Given the description of an element on the screen output the (x, y) to click on. 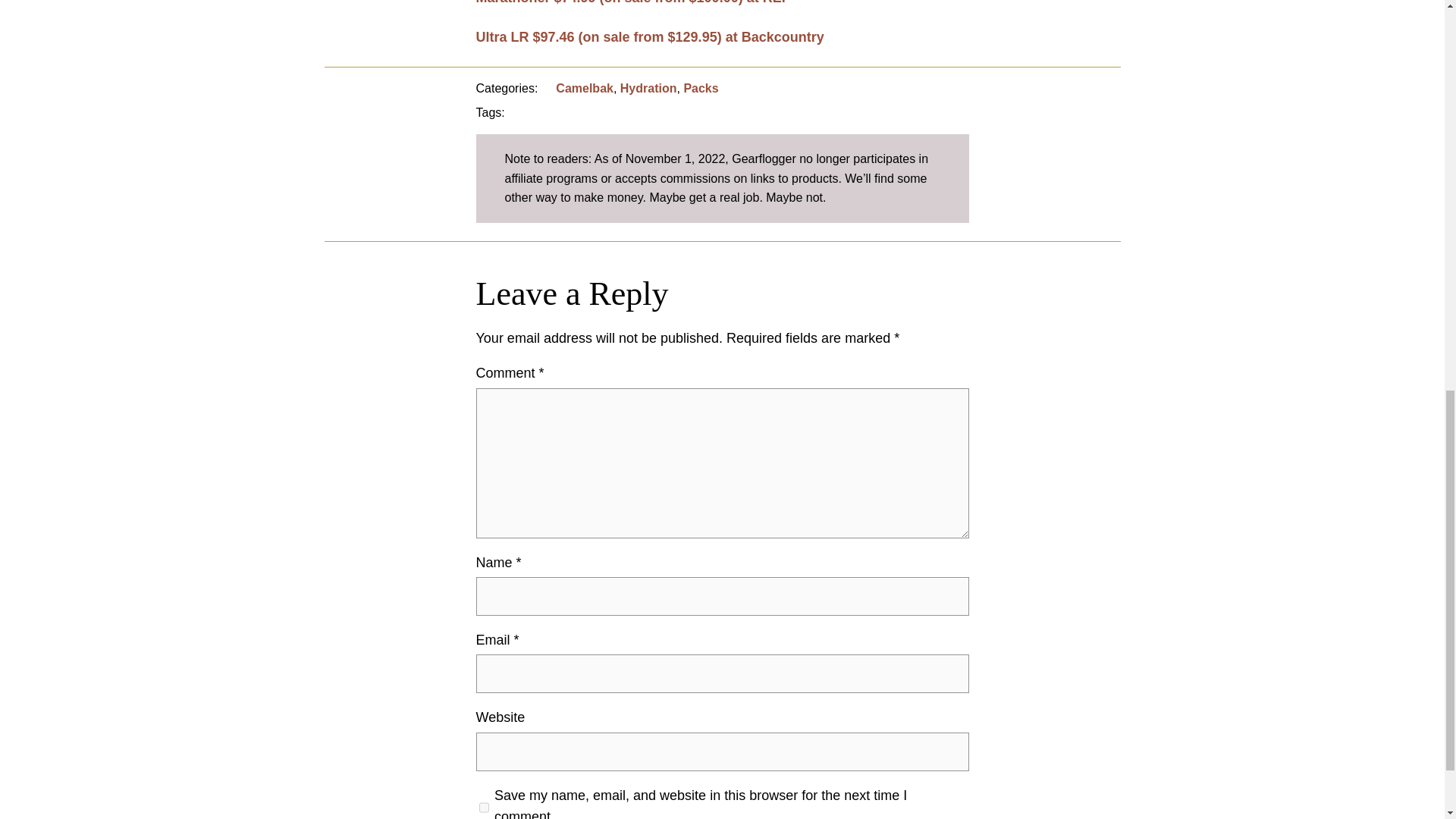
Hydration (648, 88)
Packs (699, 88)
Camelbak (584, 88)
yes (484, 804)
